Given the description of an element on the screen output the (x, y) to click on. 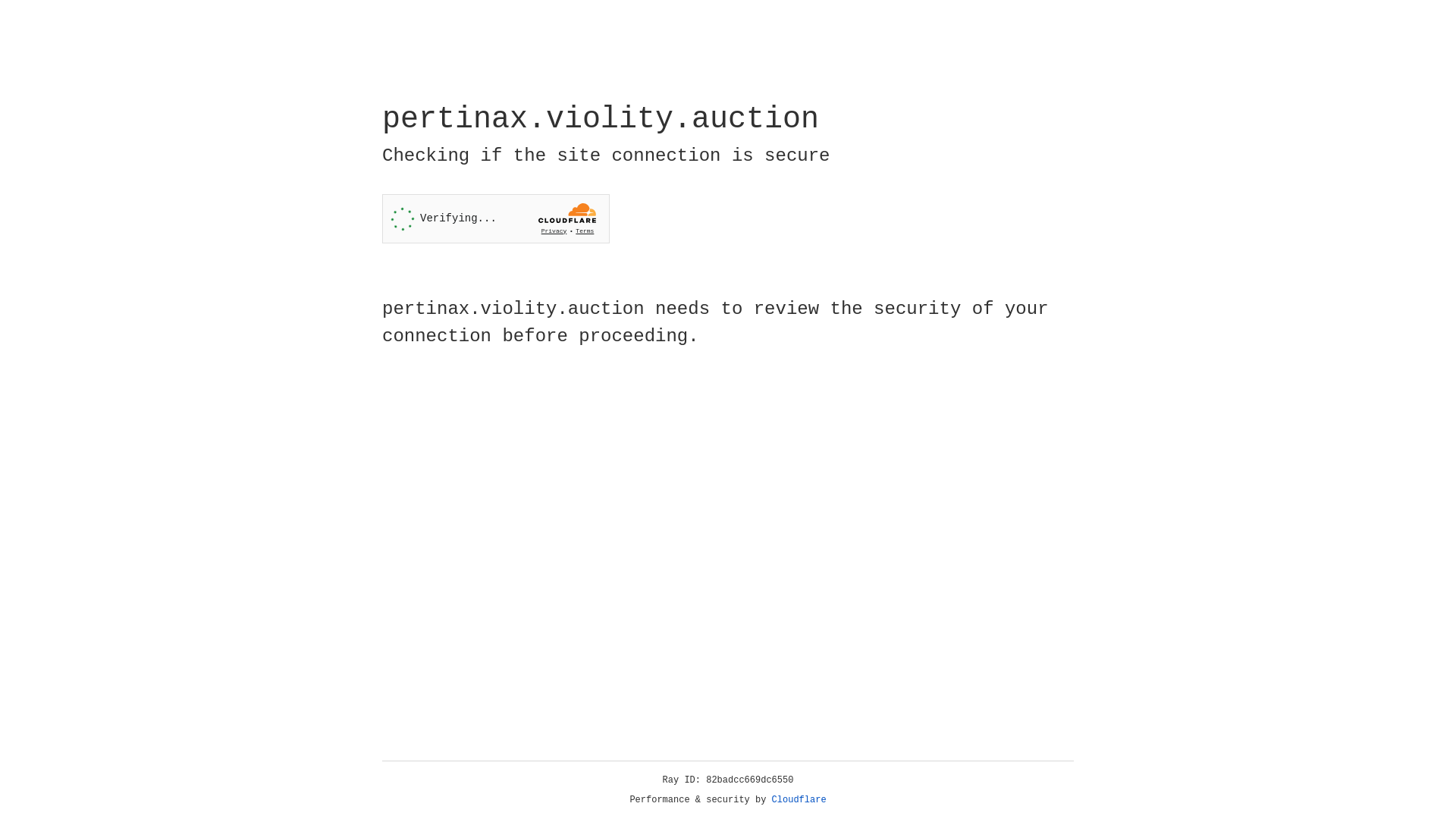
Cloudflare Element type: text (798, 799)
Widget containing a Cloudflare security challenge Element type: hover (495, 218)
